Given the description of an element on the screen output the (x, y) to click on. 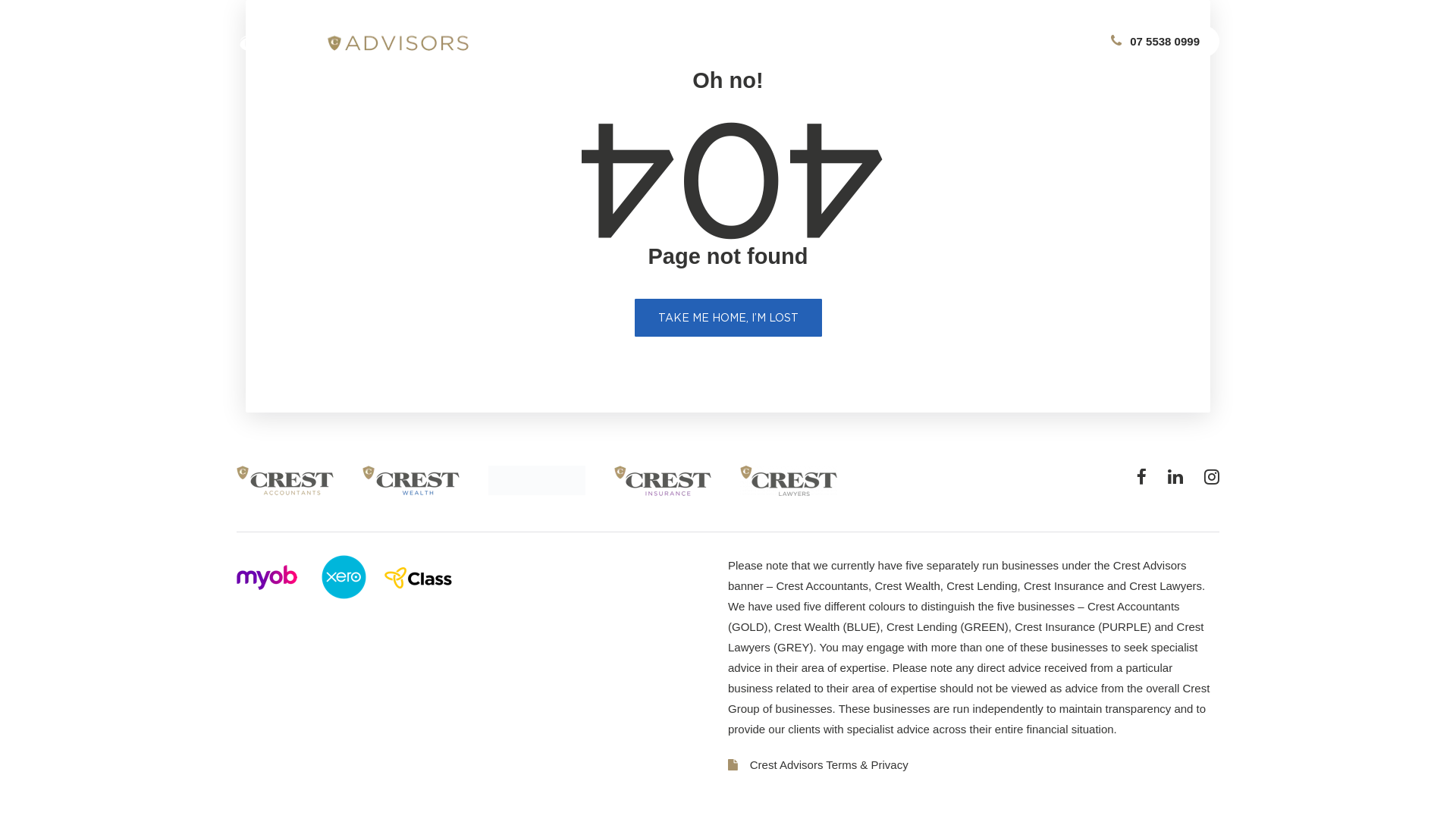
07 5538 0999 Element type: text (1155, 40)
crestlawyer Element type: hover (788, 480)
Search Element type: text (1148, 34)
Crest Advisors Terms & Privacy Element type: text (973, 764)
